Given the description of an element on the screen output the (x, y) to click on. 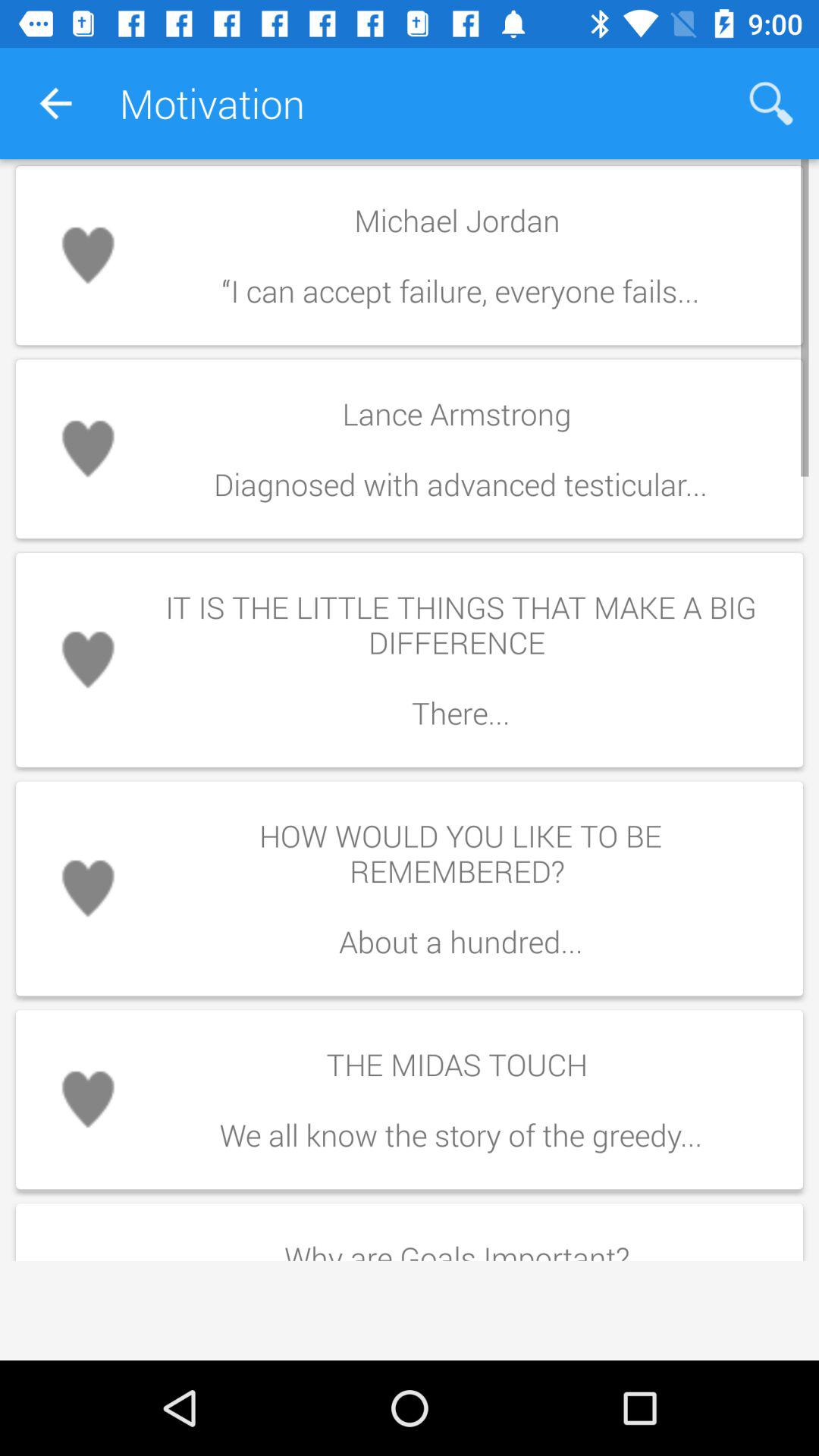
click the it is the icon (460, 659)
